Given the description of an element on the screen output the (x, y) to click on. 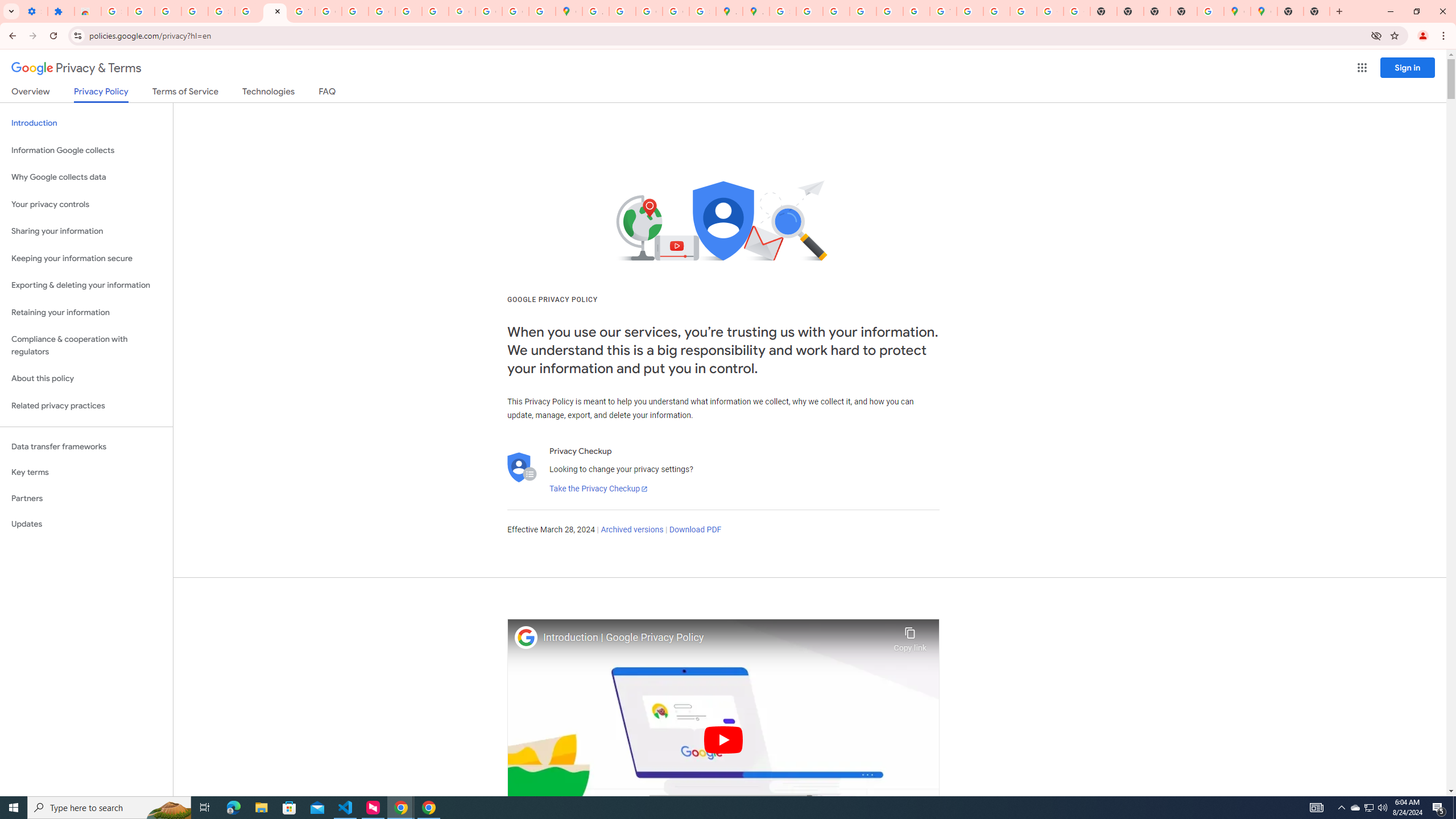
Copy link (909, 636)
https://scholar.google.com/ (355, 11)
Exporting & deleting your information (86, 284)
Compliance & cooperation with regulators (86, 345)
